Given the description of an element on the screen output the (x, y) to click on. 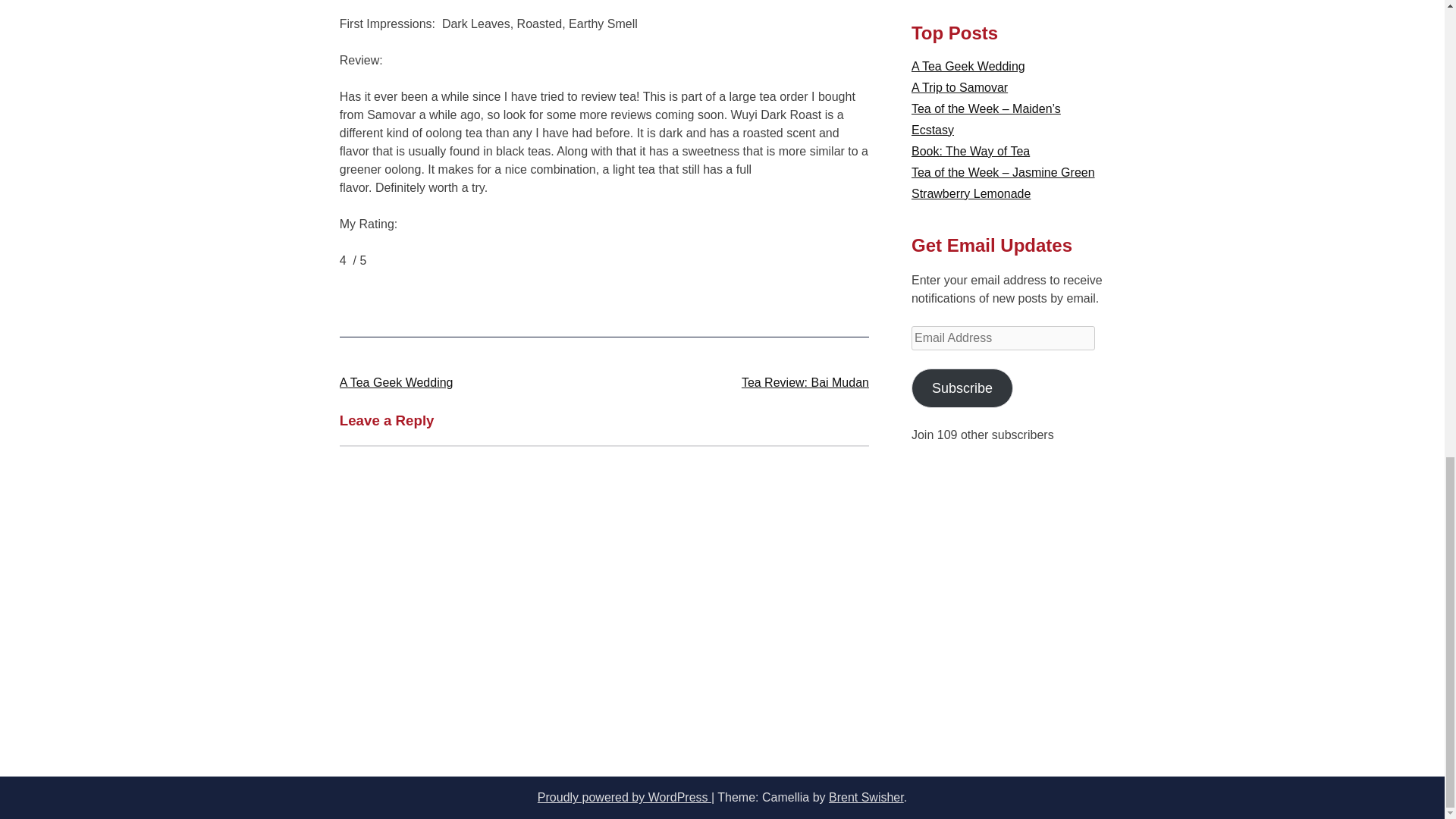
Tea Review: Bai Mudan (805, 382)
A Tea Geek Wedding (395, 382)
A Tea Geek Wedding (968, 65)
Subscribe (962, 387)
A Trip to Samovar (959, 87)
Book: The Way of Tea (970, 151)
Proudly powered by WordPress (624, 797)
Brent Swisher (866, 797)
